Given the description of an element on the screen output the (x, y) to click on. 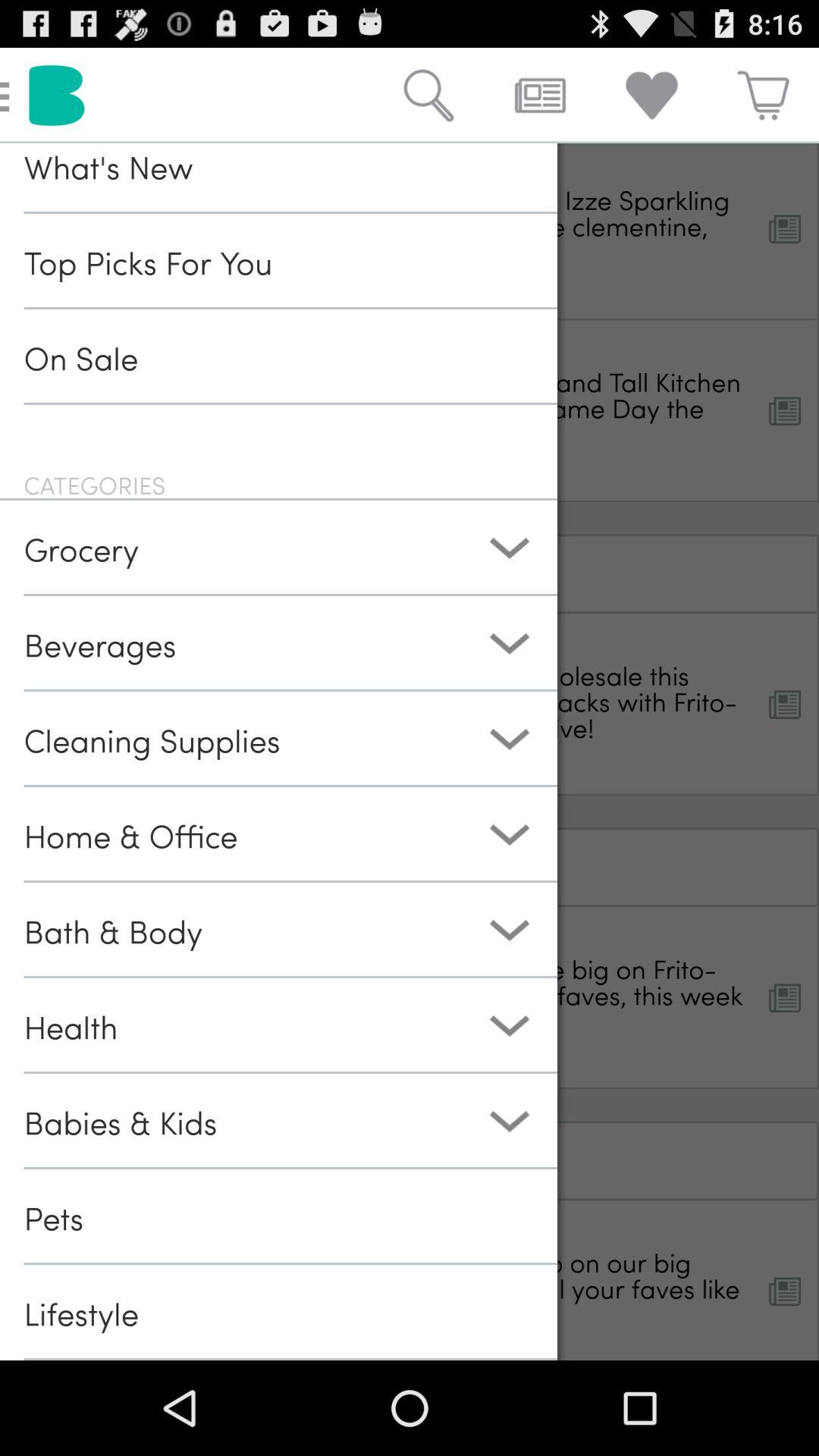
click the button on left to the cart button on the web page (651, 95)
